Given the description of an element on the screen output the (x, y) to click on. 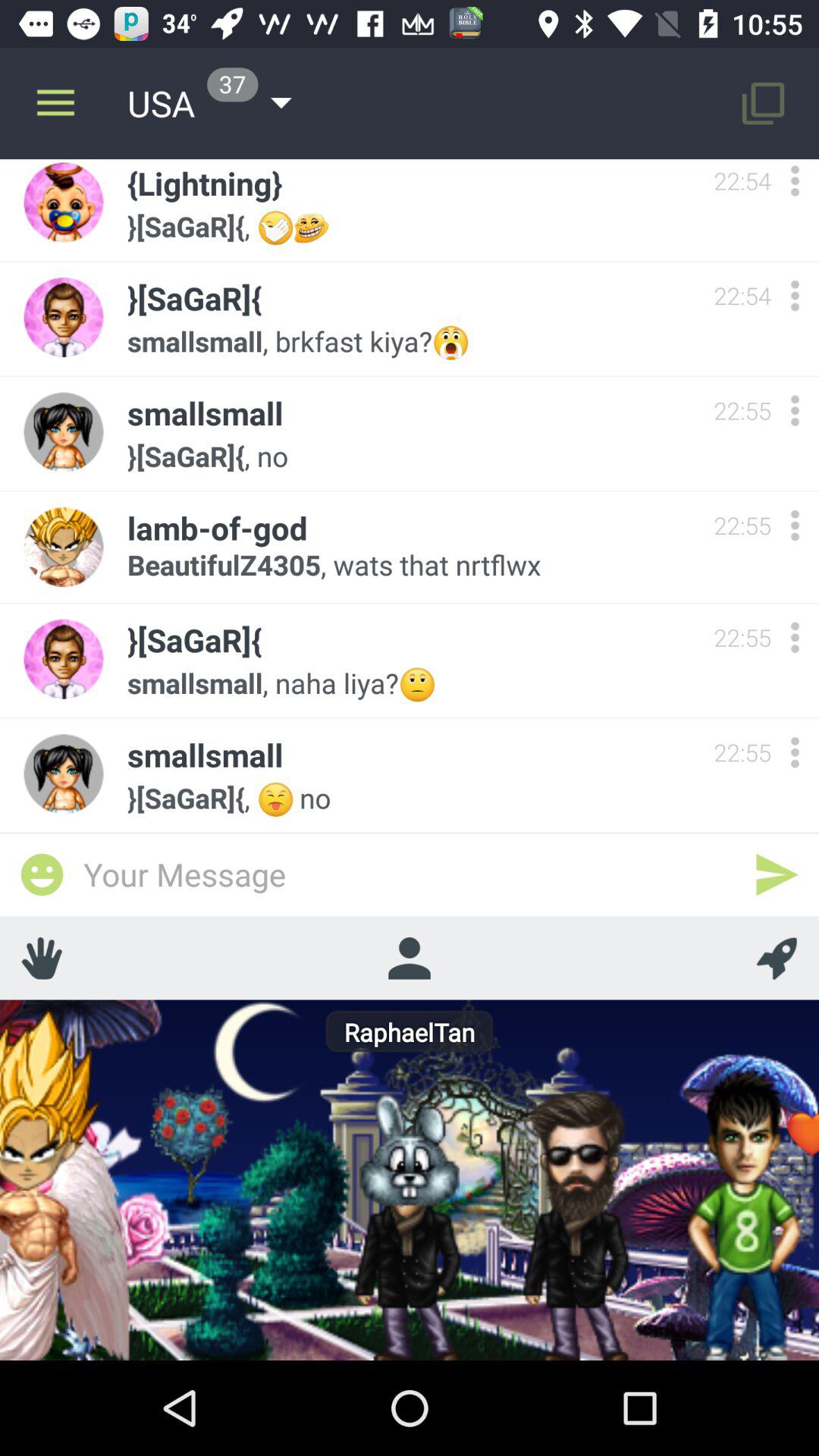
more options (795, 752)
